Given the description of an element on the screen output the (x, y) to click on. 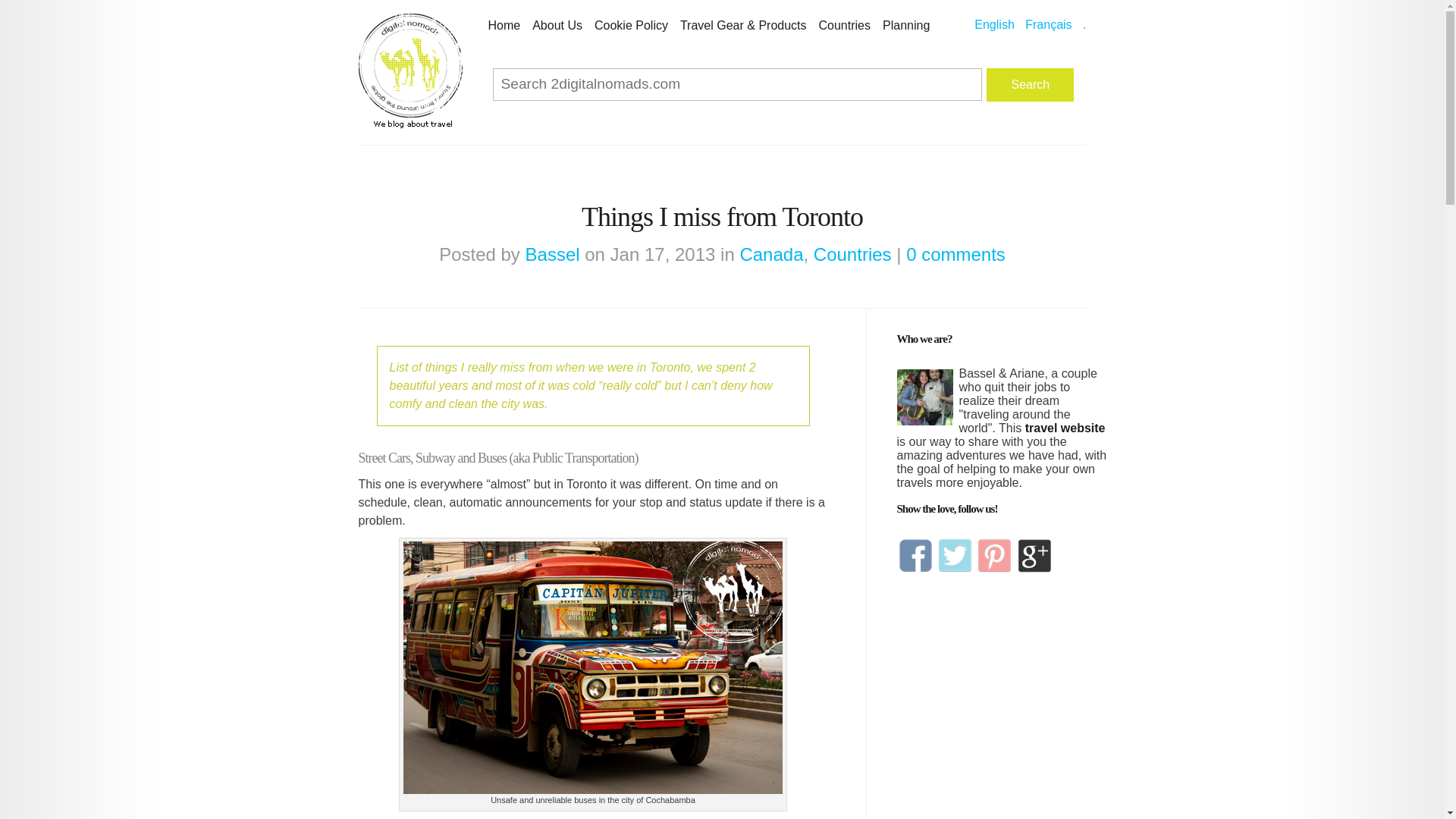
English Element type: text (993, 24)
Bassel Element type: text (552, 254)
Cookie Policy Element type: text (631, 25)
Home Element type: text (504, 25)
About Us Element type: text (557, 25)
Search Element type: text (1029, 84)
Canada Element type: text (771, 254)
. Element type: text (1083, 24)
Planning Element type: text (905, 25)
0 comments Element type: text (955, 254)
Countries Element type: text (852, 254)
Travel Gear & Products Element type: text (743, 25)
Countries Element type: text (844, 25)
